Given the description of an element on the screen output the (x, y) to click on. 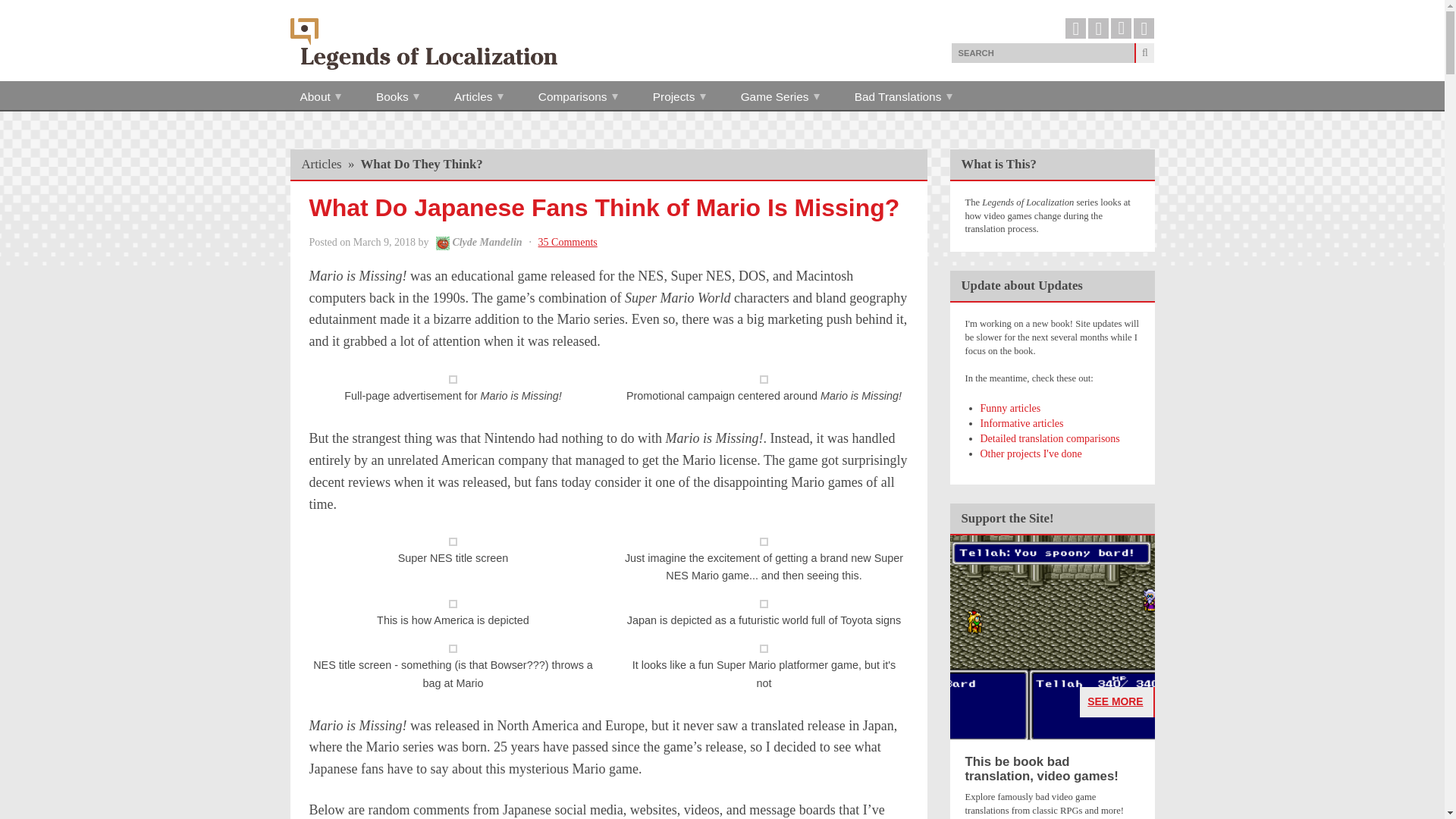
Super NES title screen (452, 541)
Articles (478, 96)
Follow on Twitter (1075, 28)
Follow on YouTube (1120, 28)
Legends of Localization (422, 43)
Comparisons (577, 96)
Full-page advertisement for Mario is Missing! (452, 379)
Follow on Twitch (1097, 28)
Follow on RSS (1144, 28)
Projects (679, 96)
Japan is depicted as a futuristic world full of Toyota signs (764, 603)
Books (397, 96)
This is how America is depicted (452, 603)
Promotional campaign centered around Mario is Missing! (764, 379)
